Given the description of an element on the screen output the (x, y) to click on. 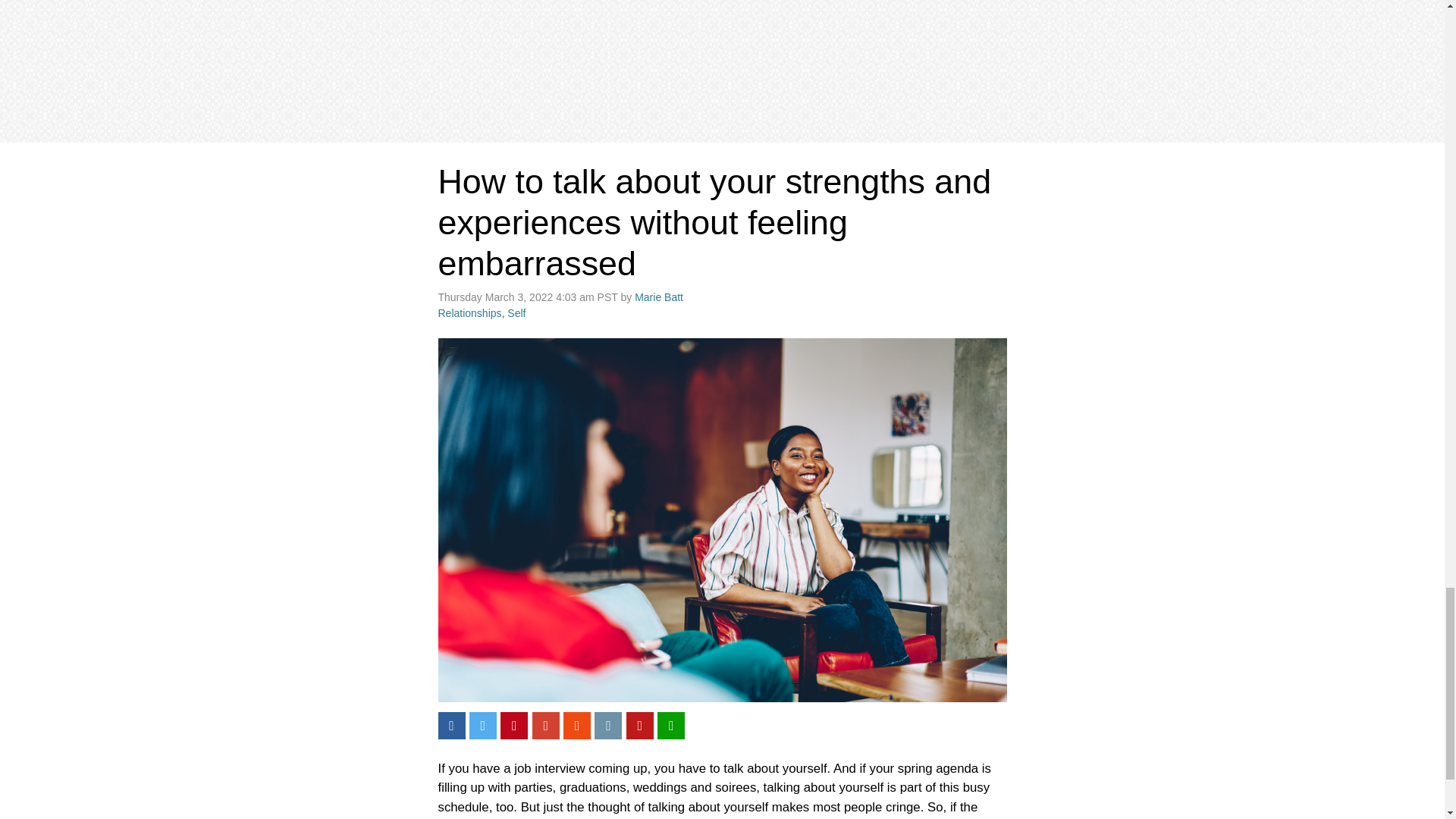
3rd party ad content (721, 63)
Posts by Marie Batt (658, 297)
Relationships Tag (470, 313)
Self Tag (515, 313)
